Given the description of an element on the screen output the (x, y) to click on. 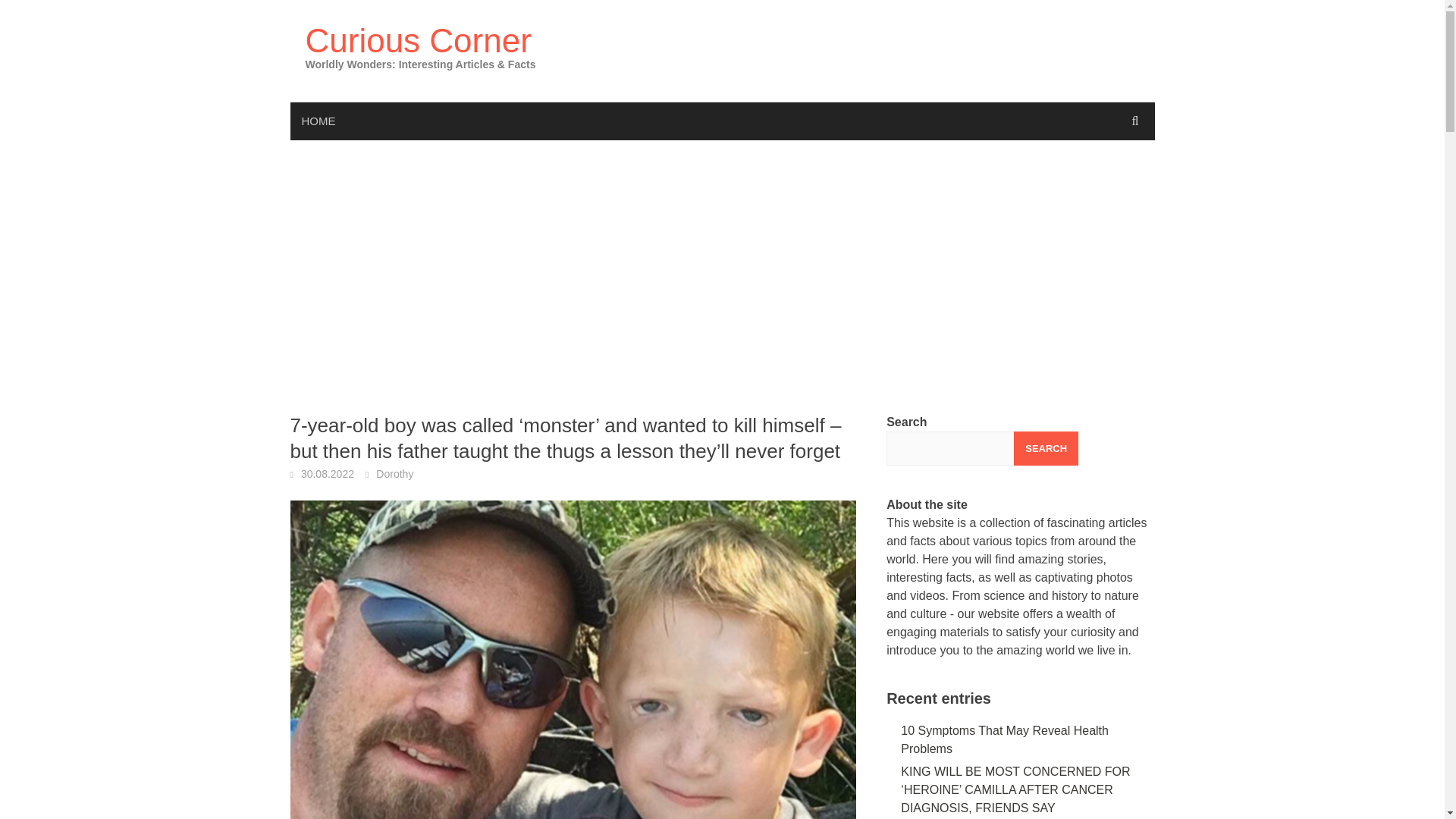
30.08.2022 (327, 473)
Curious Corner (417, 40)
HOME (317, 121)
10 Symptoms That May Reveal Health Problems (1004, 739)
SEARCH (1045, 448)
Dorothy (394, 473)
